Given the description of an element on the screen output the (x, y) to click on. 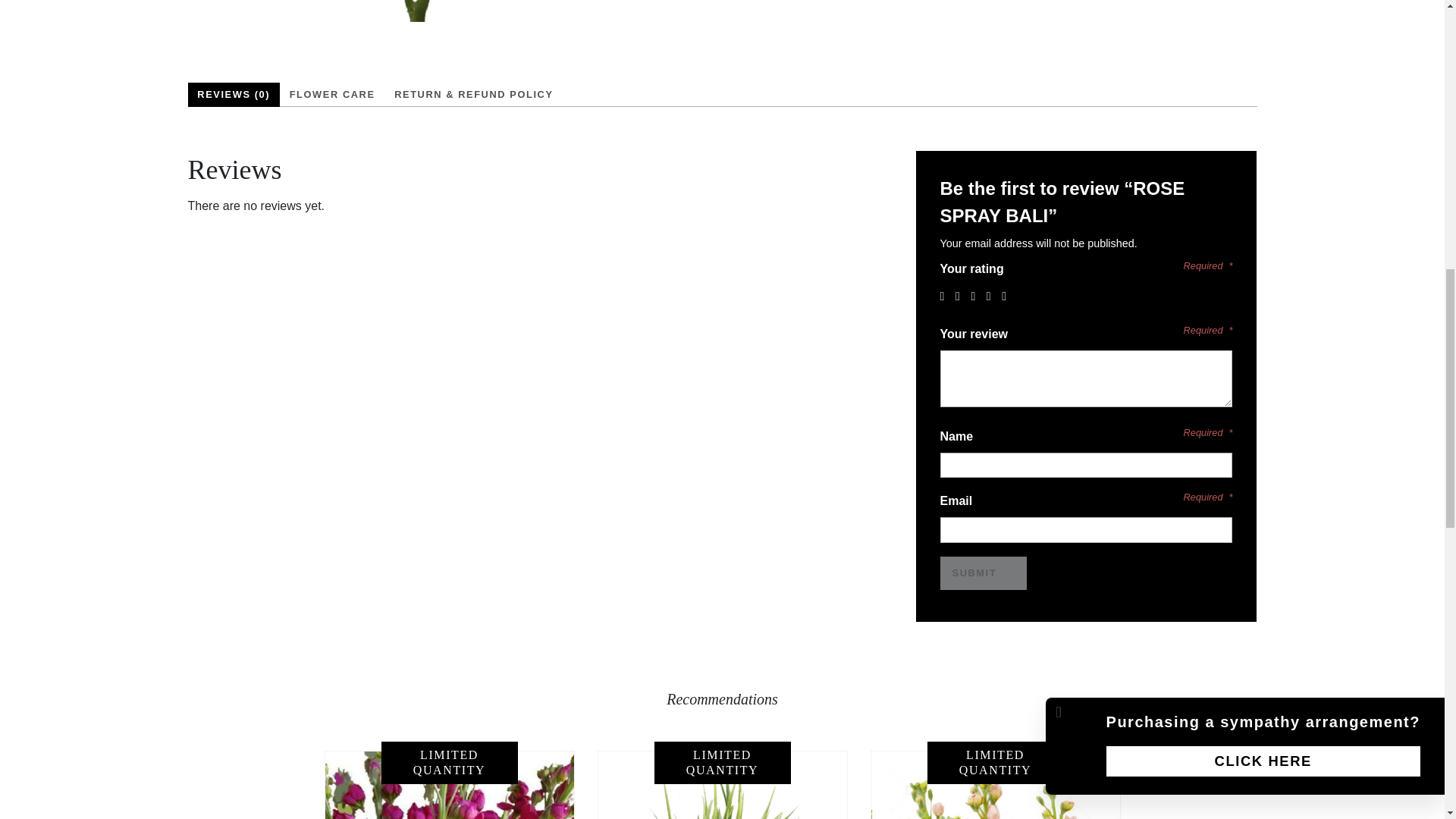
5 (1007, 296)
Submit (983, 573)
ROSESPRAYBALI (403, 11)
Submit (983, 573)
4 (992, 296)
2 (961, 296)
1 (946, 296)
FLOWER CARE (332, 94)
3 (976, 296)
